Given the description of an element on the screen output the (x, y) to click on. 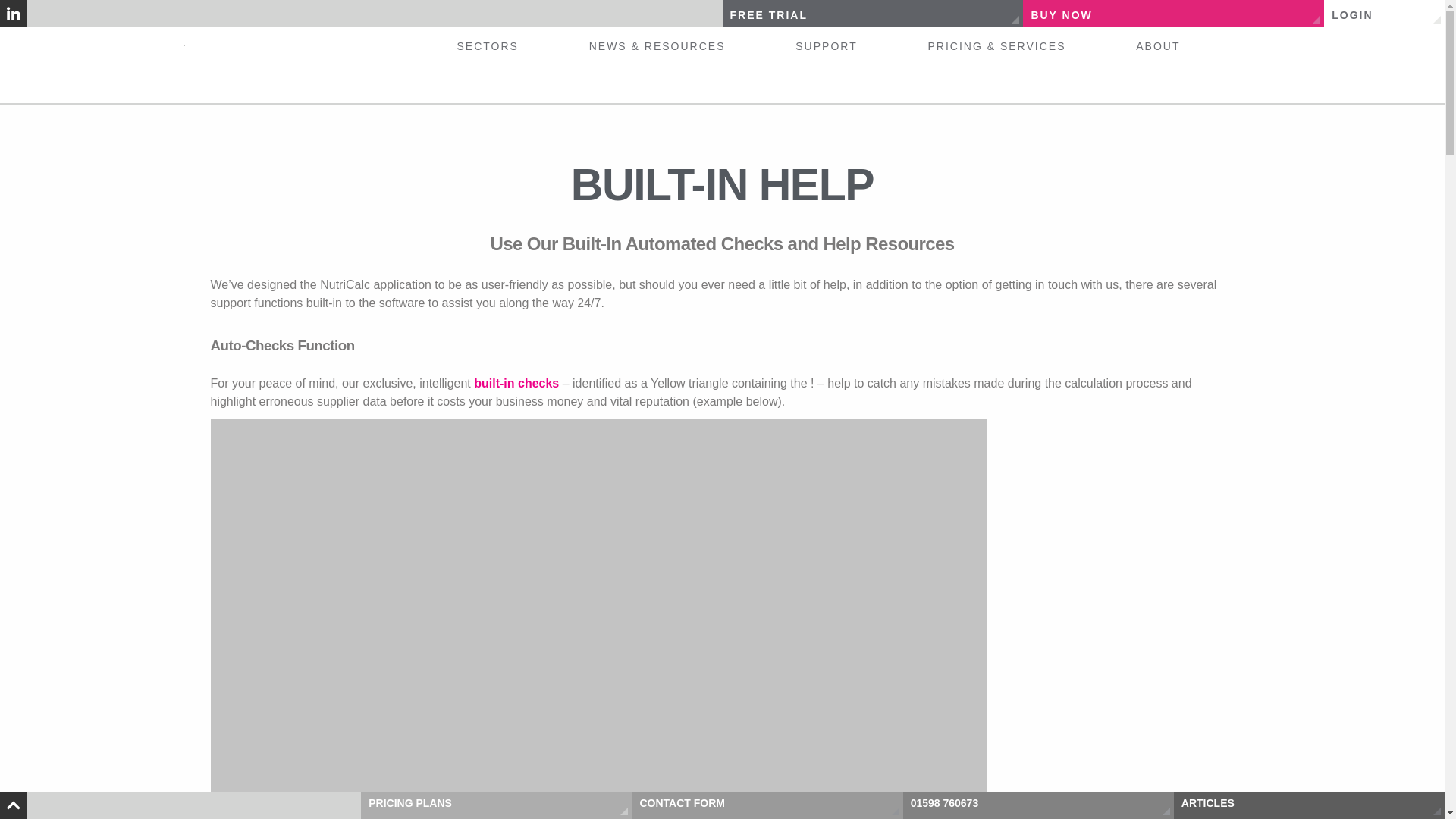
FREE TRIAL (874, 15)
LOGIN (1386, 15)
ABOUT (1157, 46)
SUPPORT (825, 46)
SECTORS (487, 46)
BUY NOW (1175, 15)
